Given the description of an element on the screen output the (x, y) to click on. 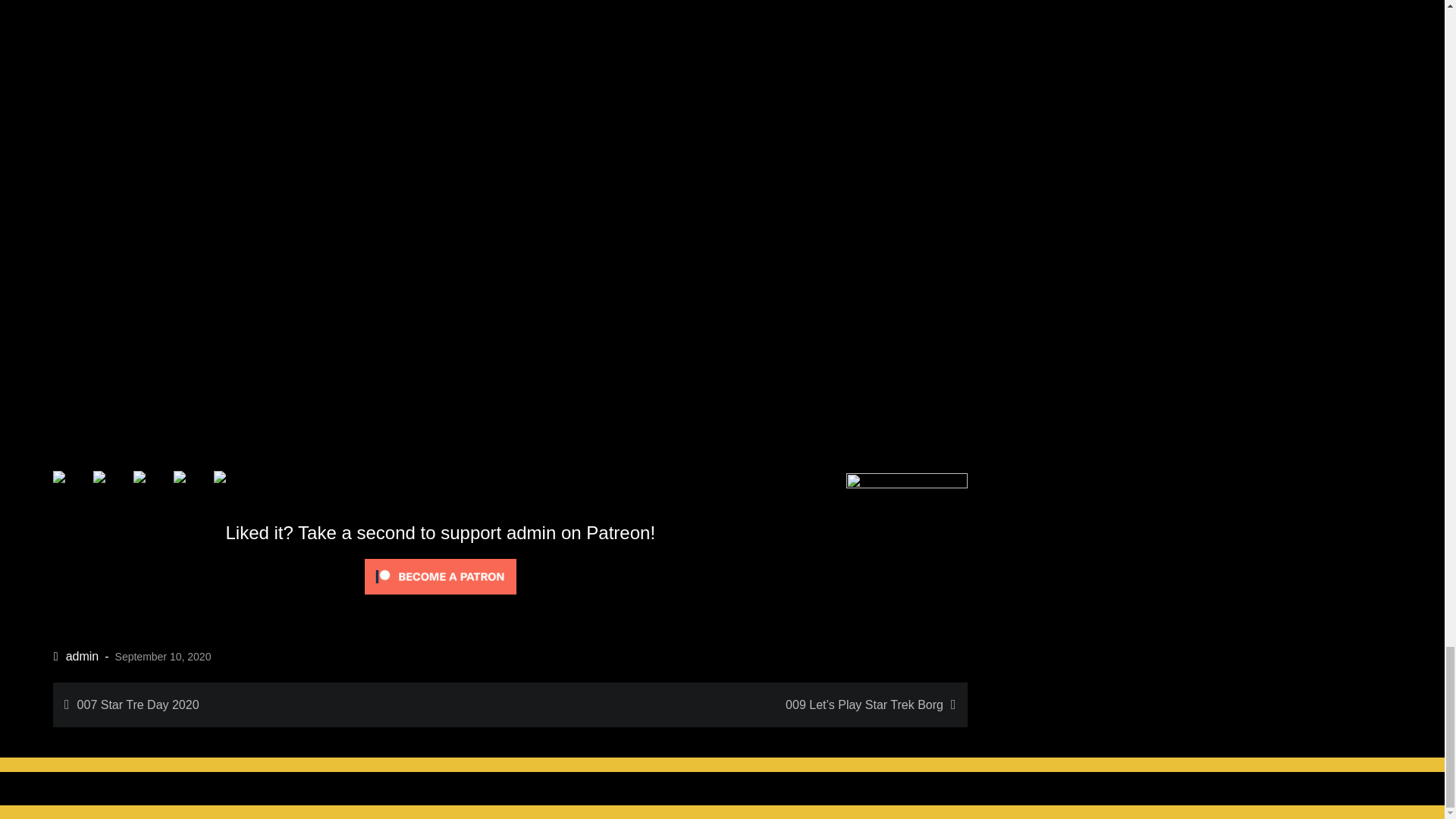
007 Star Tre Day 2020 (278, 704)
Share by email (232, 488)
Share on Facebook (70, 488)
September 10, 2020 (163, 656)
Pin it with Pinterest (191, 488)
Share on Twitter (111, 488)
admin (76, 656)
Share on Reddit (151, 488)
